Given the description of an element on the screen output the (x, y) to click on. 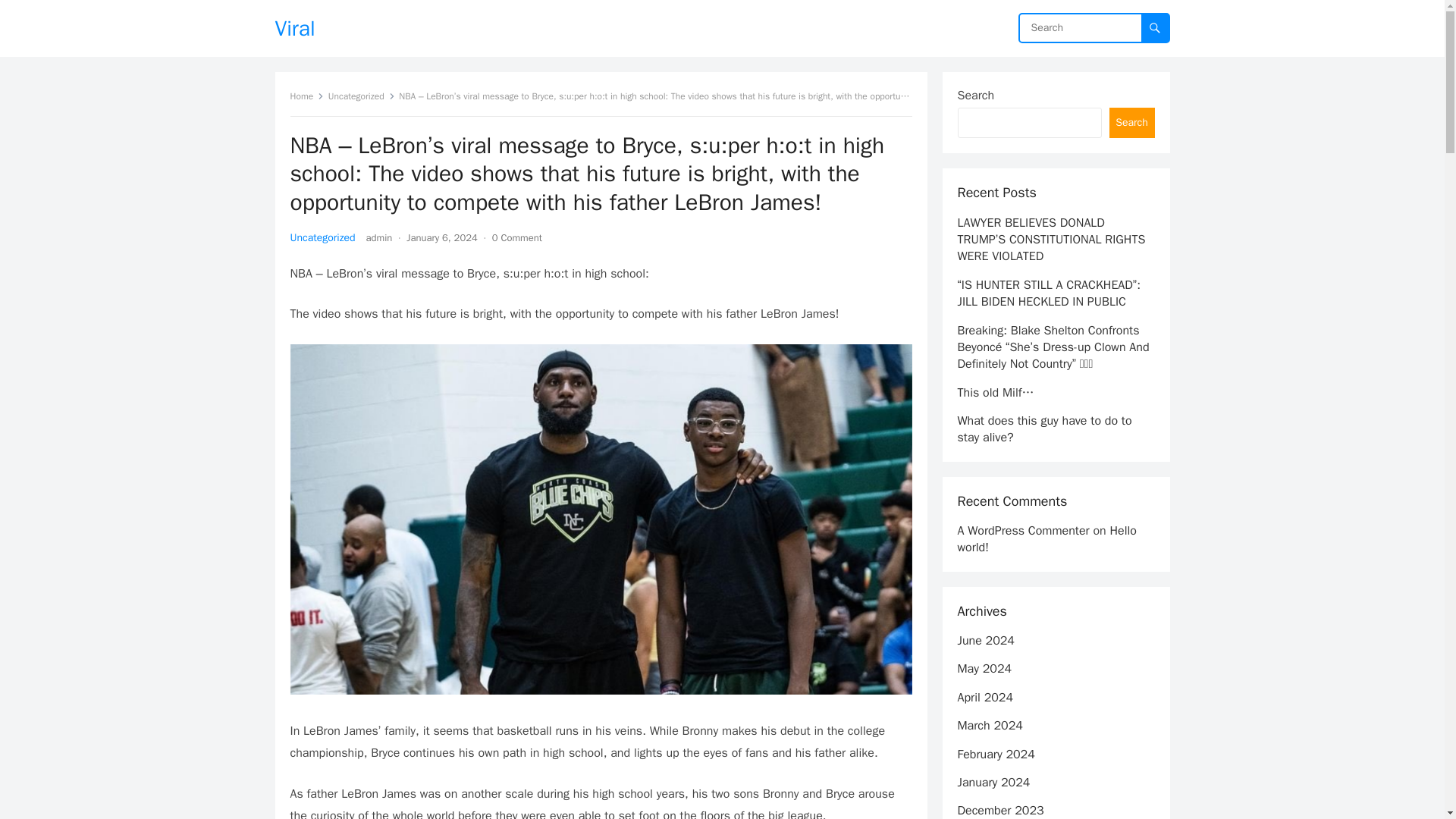
Search (1131, 122)
Uncategorized (322, 237)
admin (379, 237)
0 Comment (516, 237)
Uncategorized (361, 96)
Posts by admin (379, 237)
Home (306, 96)
